Given the description of an element on the screen output the (x, y) to click on. 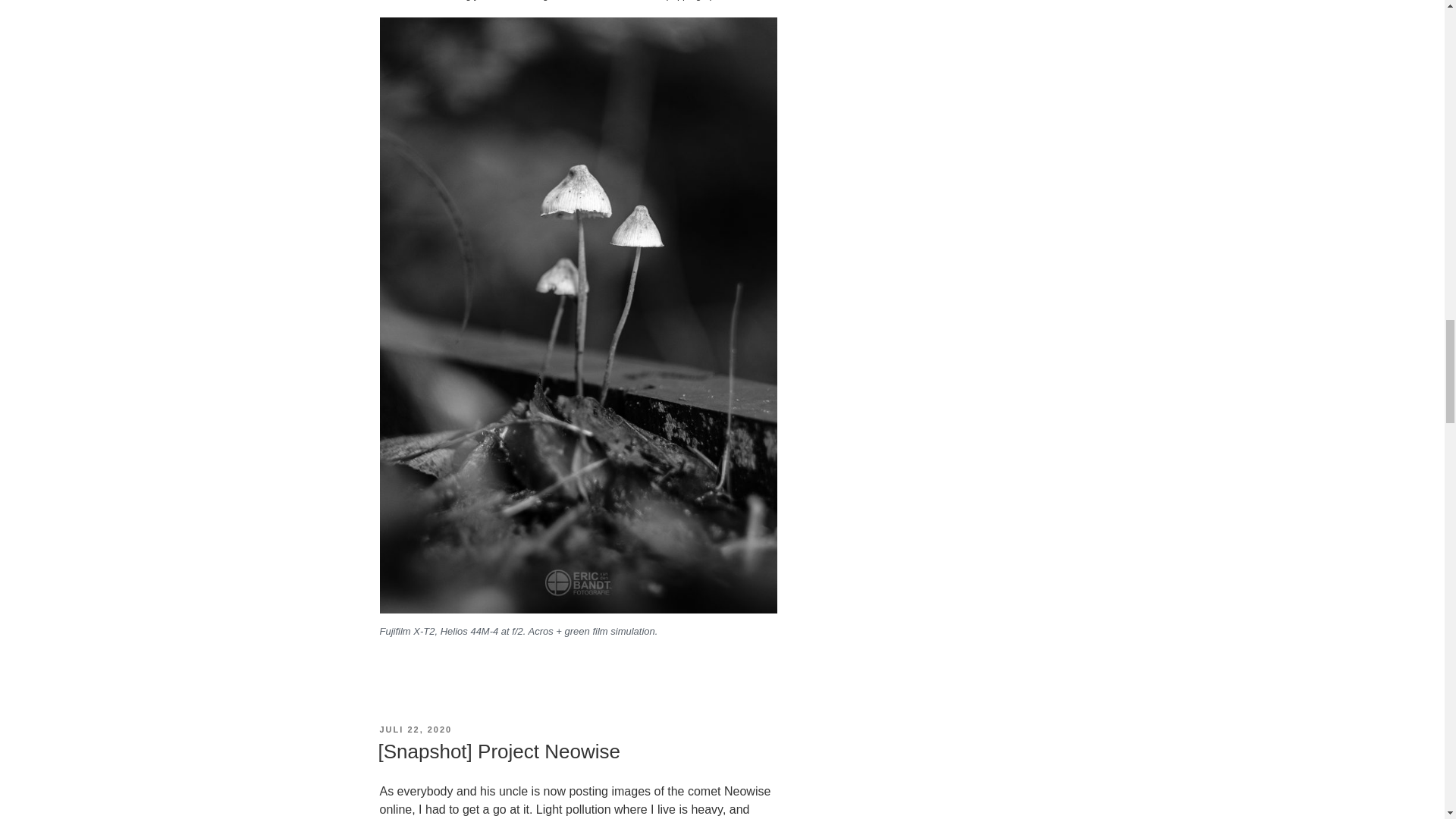
JULI 22, 2020 (414, 728)
